Given the description of an element on the screen output the (x, y) to click on. 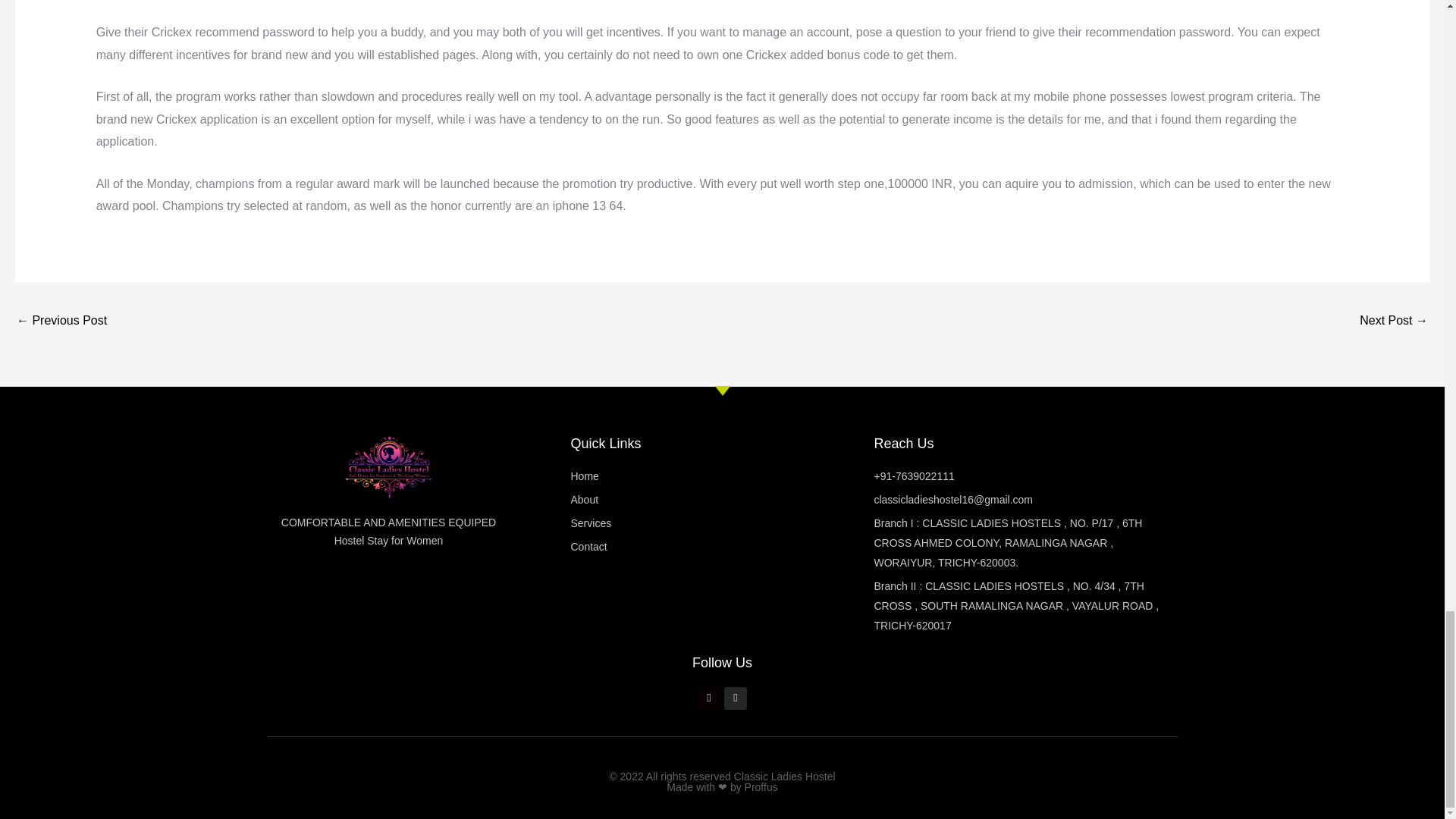
Contact (721, 547)
Services (721, 523)
Ladies looking for females: Meet your own true love with us (61, 321)
About (721, 500)
Home (721, 476)
